Given the description of an element on the screen output the (x, y) to click on. 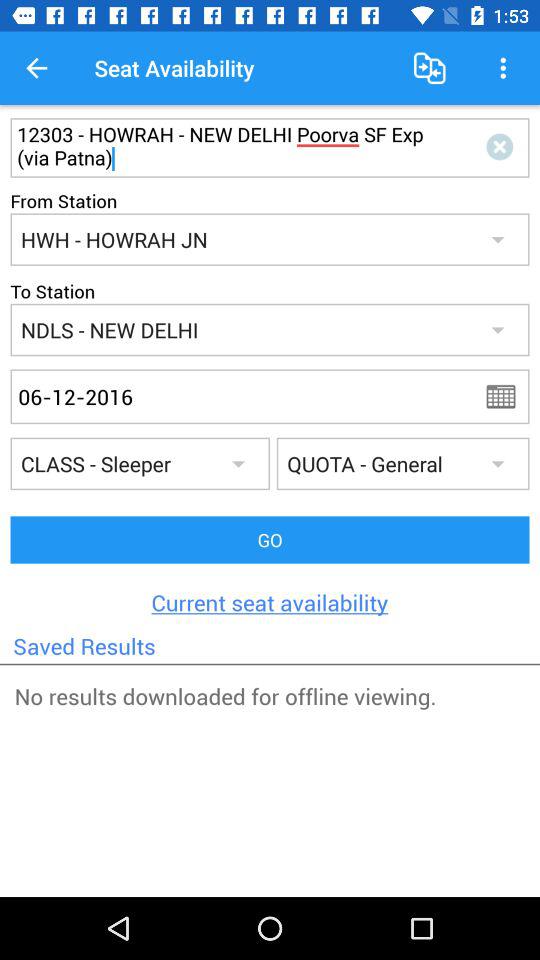
press item to the right of seat availability icon (429, 67)
